Given the description of an element on the screen output the (x, y) to click on. 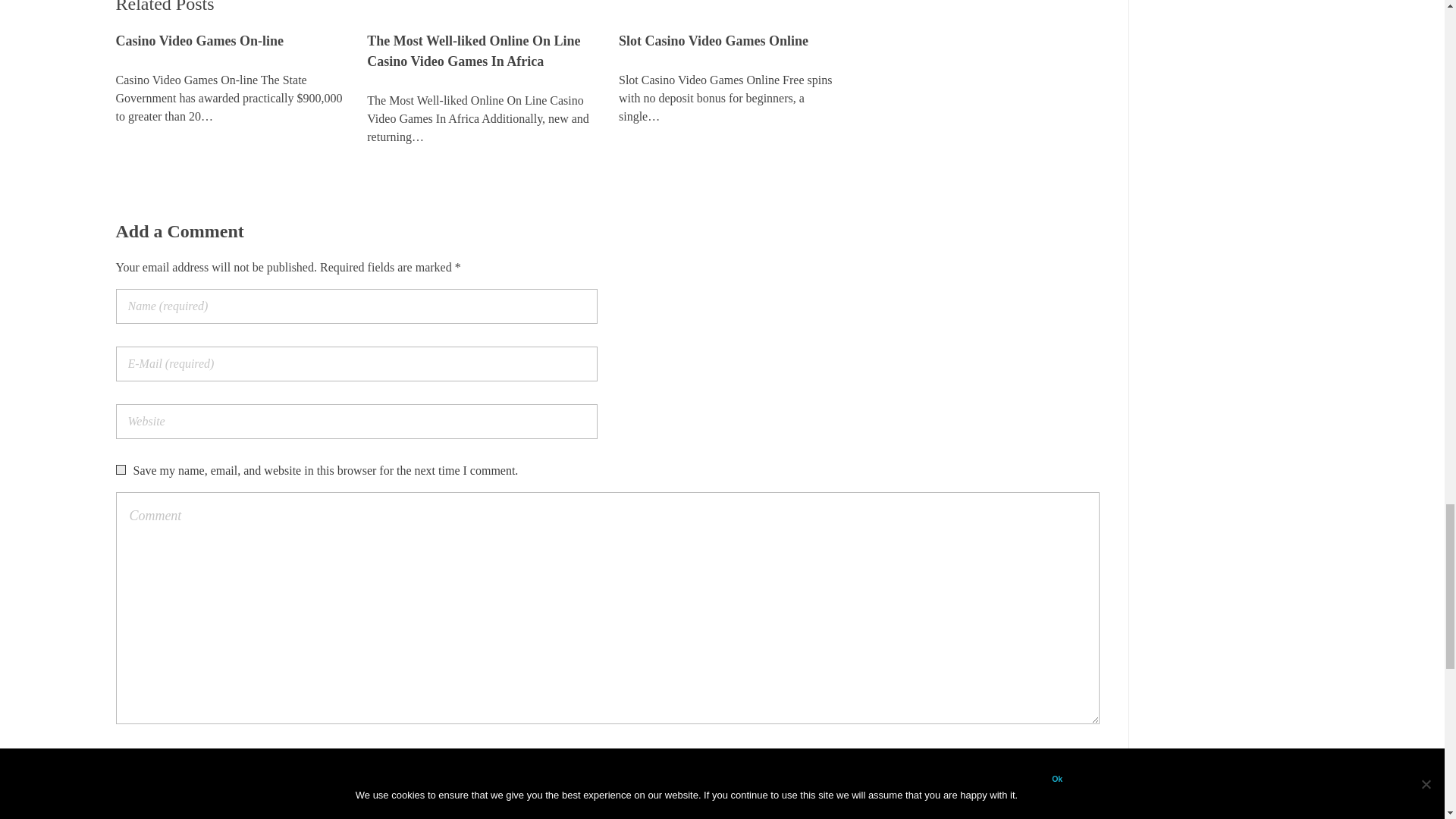
Submit (165, 767)
Slot Casino Video Games Online (732, 41)
yes (120, 470)
Casino Video Games On-line (229, 41)
Submit (165, 767)
